Given the description of an element on the screen output the (x, y) to click on. 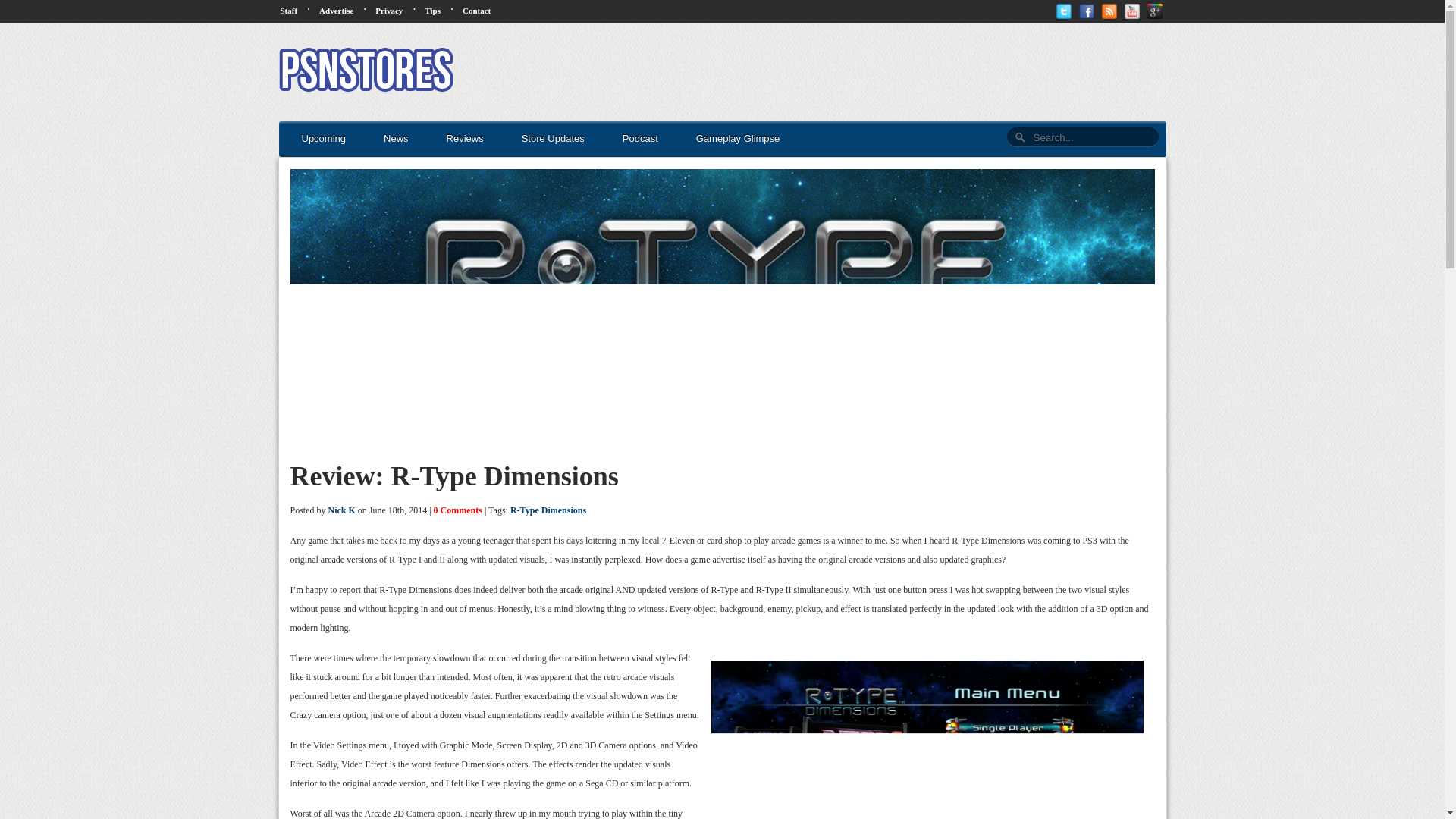
Tips (433, 10)
News (395, 138)
Posts by Nick K (342, 510)
Advertise (335, 10)
Privacy (389, 10)
Contact (476, 10)
Upcoming (323, 138)
Staff (289, 10)
